Given the description of an element on the screen output the (x, y) to click on. 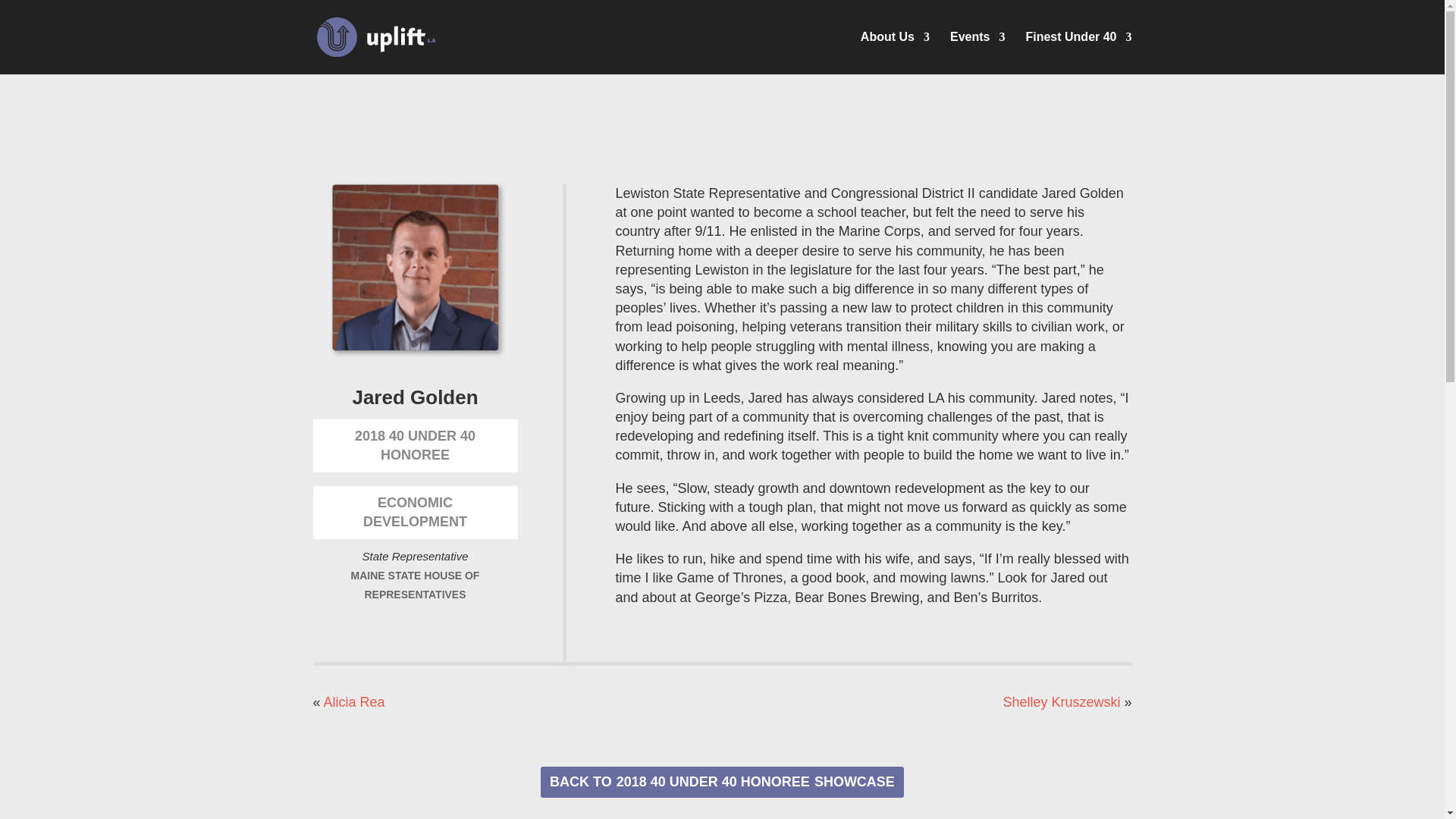
Finest Under 40 (1078, 52)
Alicia Rea (354, 702)
2018 40 UNDER 40 HONOREE (722, 781)
Shelley Kruszewski (1061, 702)
Events (977, 52)
About Us (895, 52)
